Given the description of an element on the screen output the (x, y) to click on. 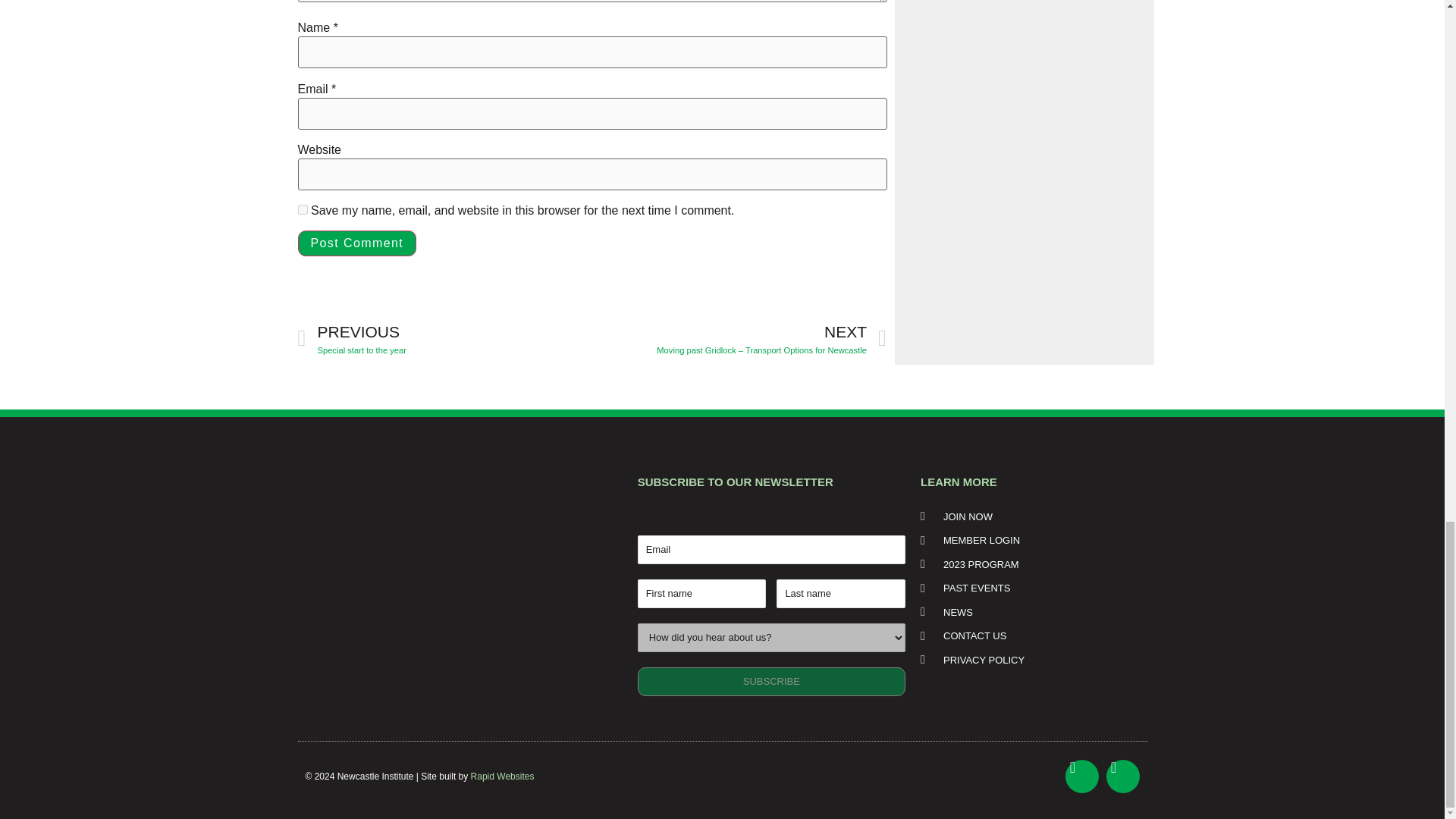
Post Comment (356, 243)
Post Comment (356, 243)
JOIN NOW (1027, 516)
PRIVACY POLICY (1027, 660)
2023 PROGRAM (1027, 564)
NEWS (444, 338)
PAST EVENTS (1027, 612)
CONTACT US (1027, 588)
Rapid Websites (1027, 635)
SUBSCRIBE (502, 776)
yes (771, 681)
MEMBER LOGIN (302, 209)
